Given the description of an element on the screen output the (x, y) to click on. 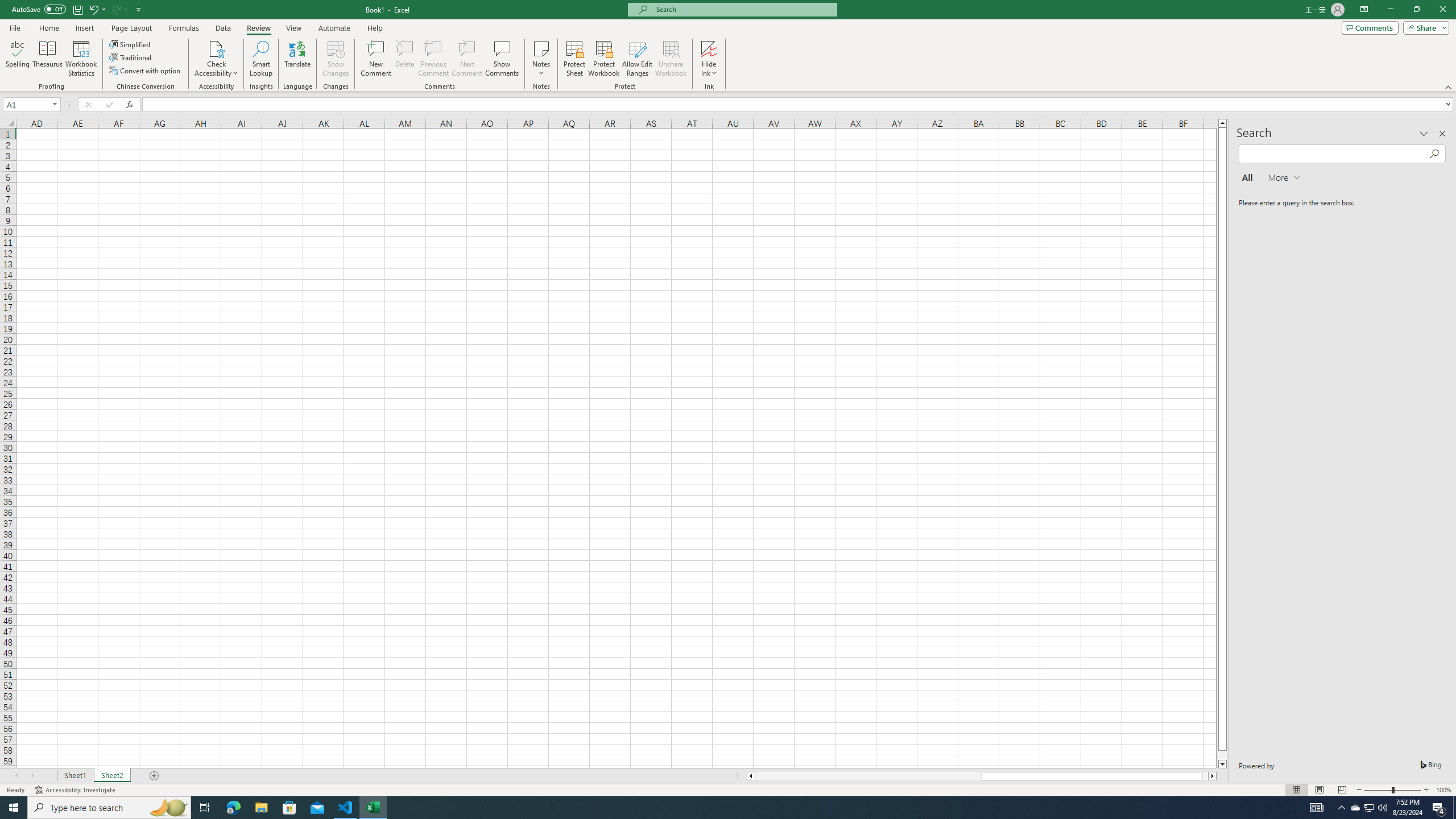
Thesaurus... (47, 58)
Delete (404, 58)
Workbook Statistics (81, 58)
Unshare Workbook (670, 58)
Allow Edit Ranges (637, 58)
